Given the description of an element on the screen output the (x, y) to click on. 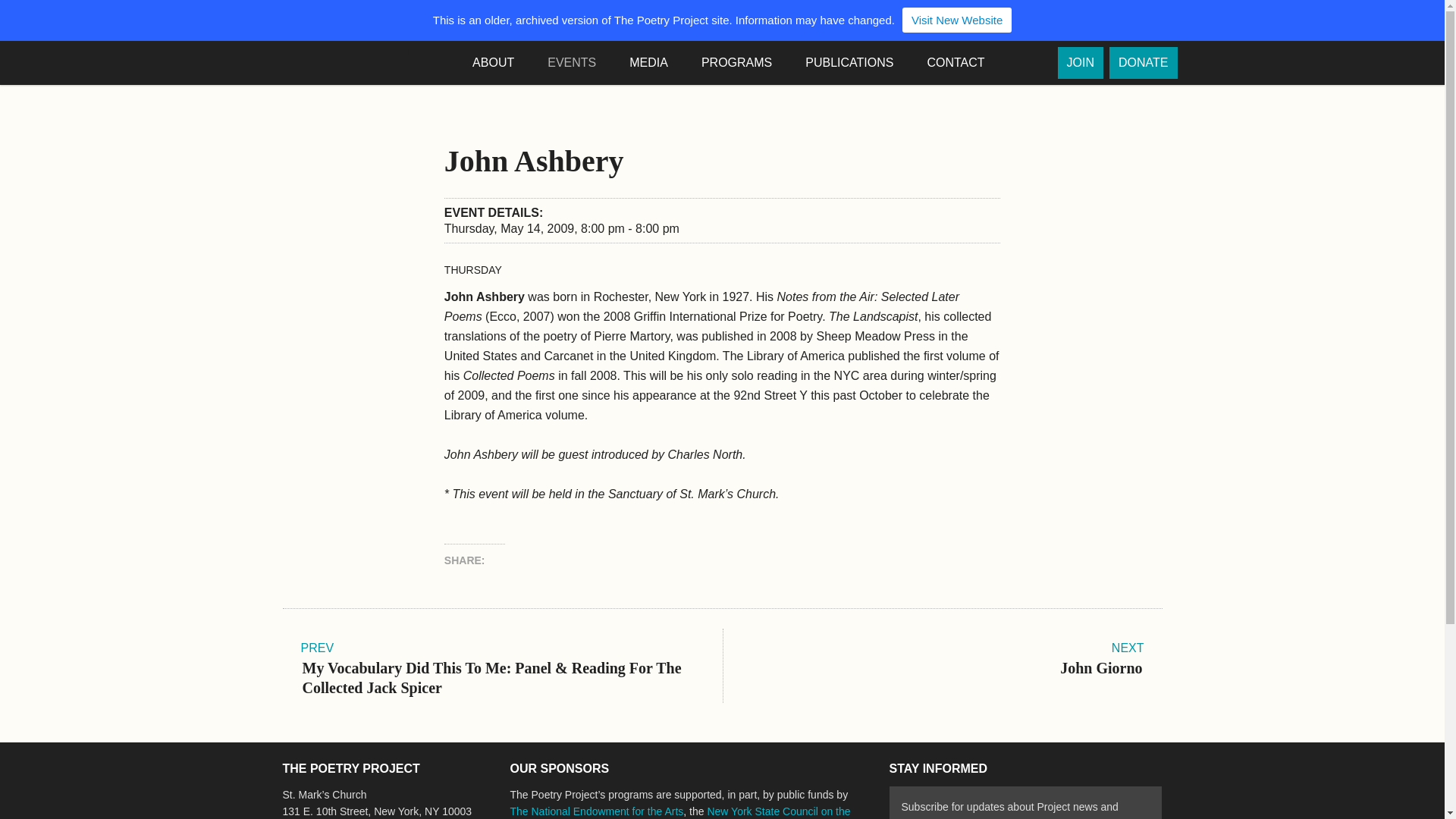
Tweet (590, 560)
MEDIA (656, 62)
Facebook (504, 560)
PUBLICATIONS (856, 62)
Pinterest (562, 560)
CONTACT (963, 62)
Email (619, 560)
DONATE (1142, 62)
SEARCH (1030, 62)
EVENTS (579, 62)
